Given the description of an element on the screen output the (x, y) to click on. 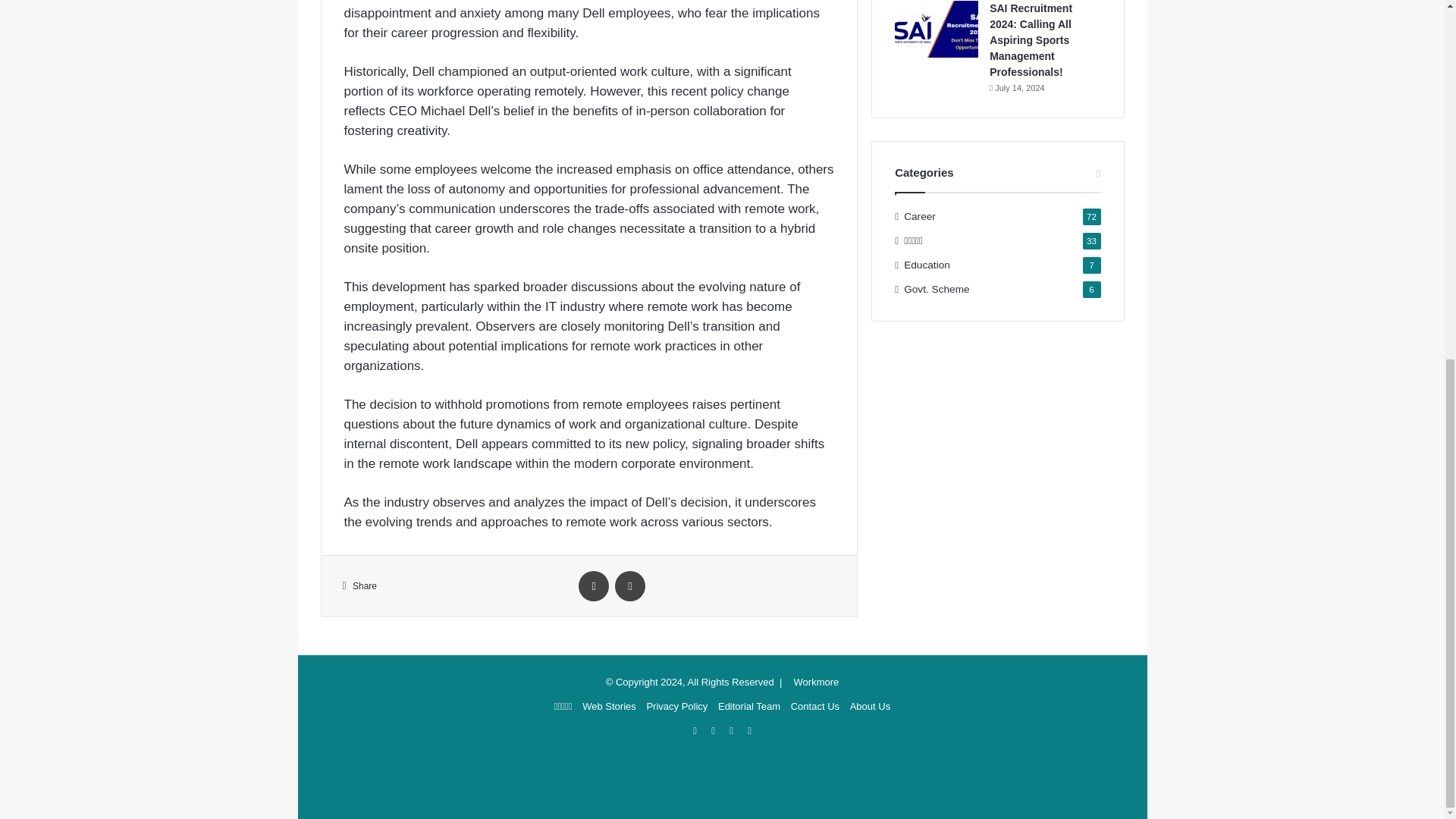
X (629, 585)
Facebook (593, 585)
Career (920, 216)
Facebook (593, 585)
Govt. Scheme (936, 289)
Web Stories (609, 706)
X (629, 585)
Privacy Policy (676, 706)
Education (927, 264)
